Given the description of an element on the screen output the (x, y) to click on. 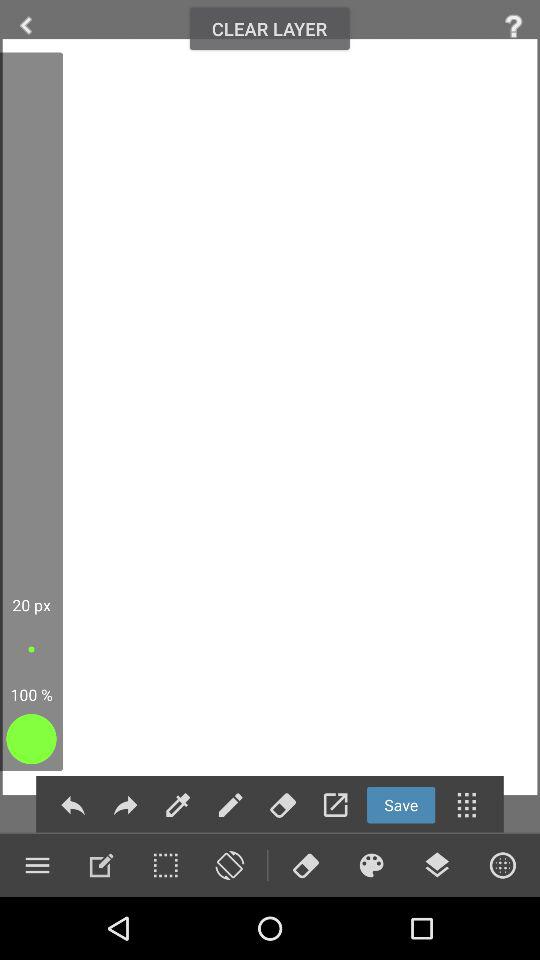
forver (125, 804)
